Given the description of an element on the screen output the (x, y) to click on. 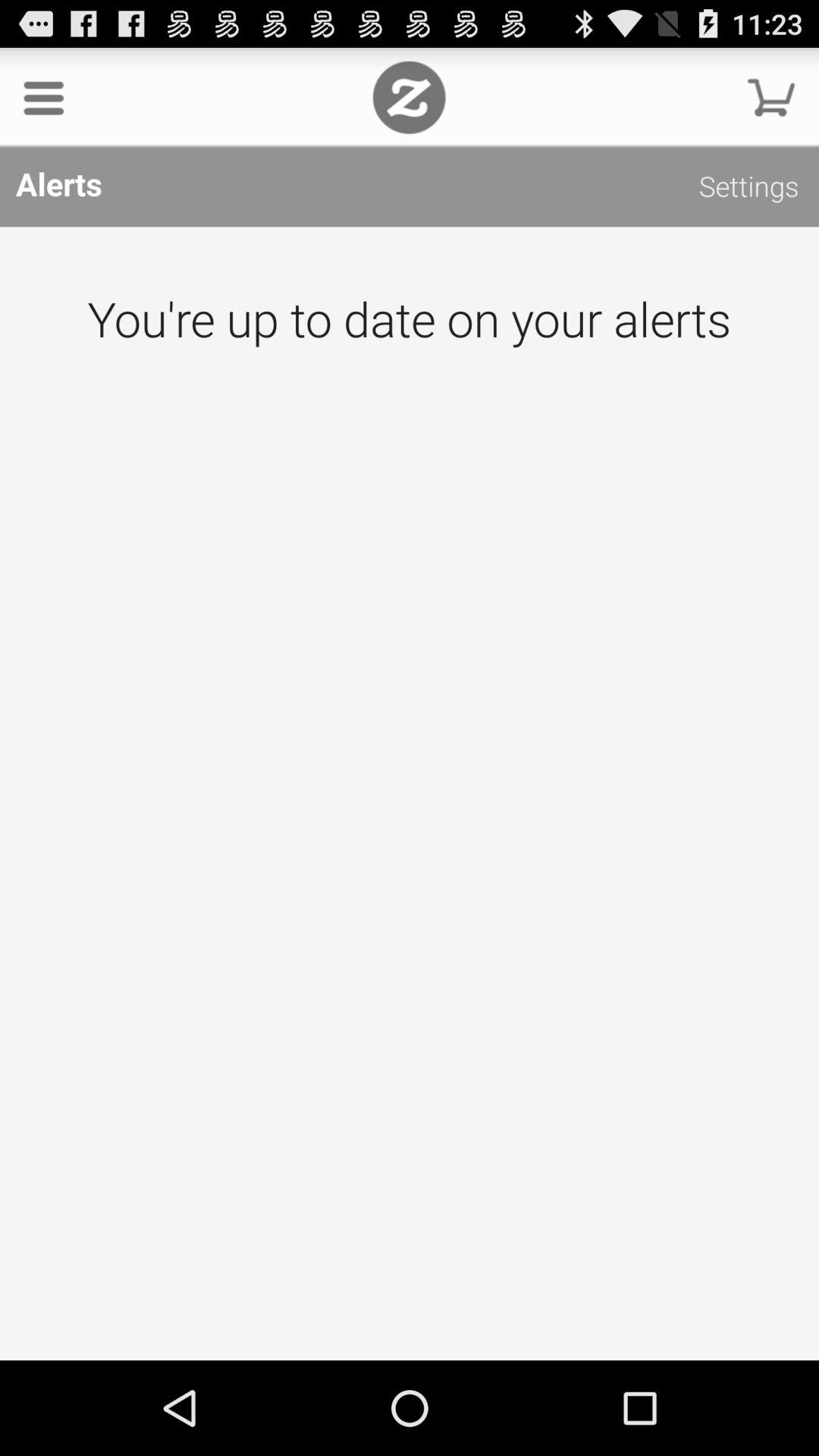
launch the item at the top left corner (43, 97)
